Given the description of an element on the screen output the (x, y) to click on. 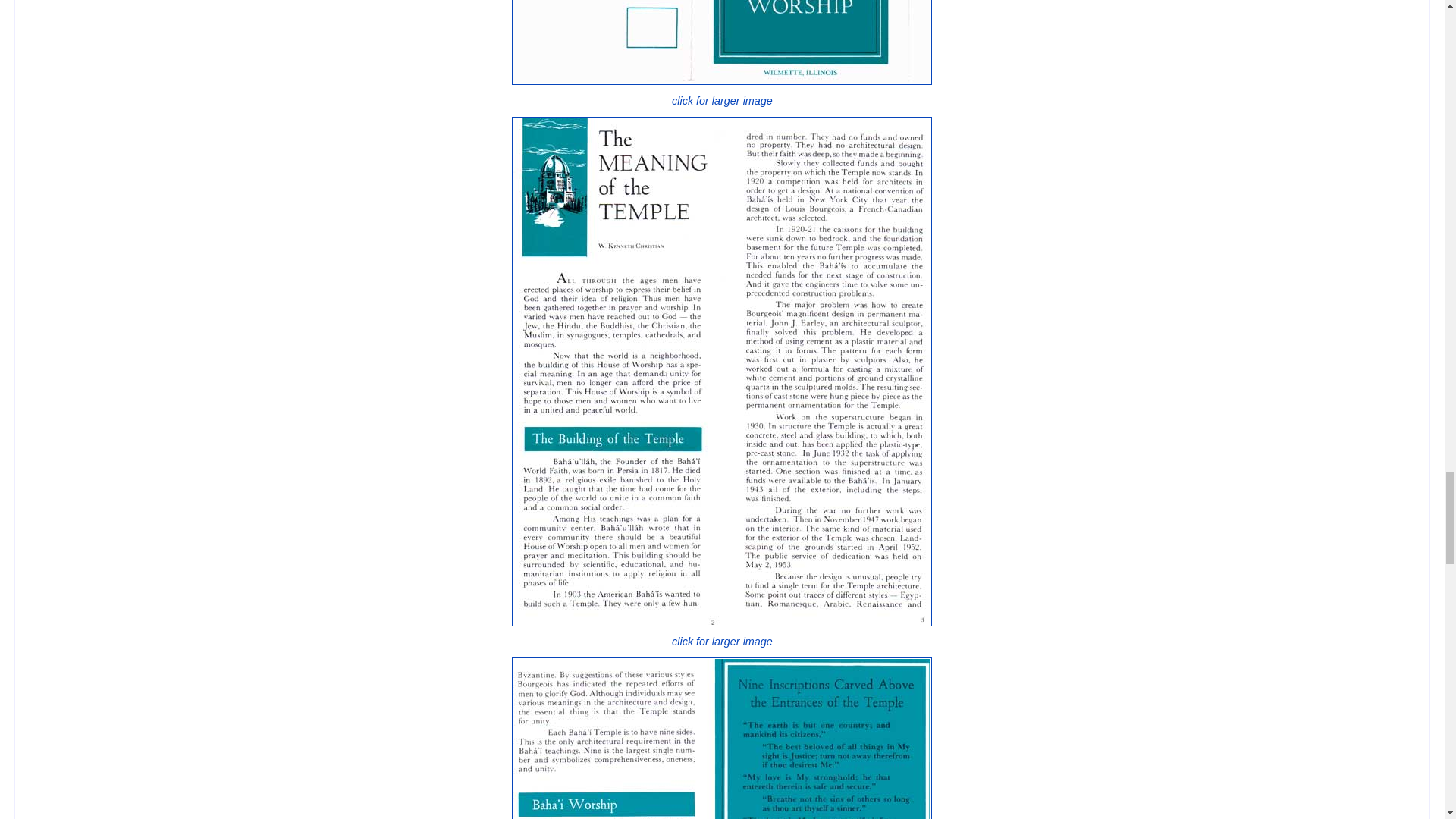
click for larger image (721, 92)
click for larger image (721, 633)
